Given the description of an element on the screen output the (x, y) to click on. 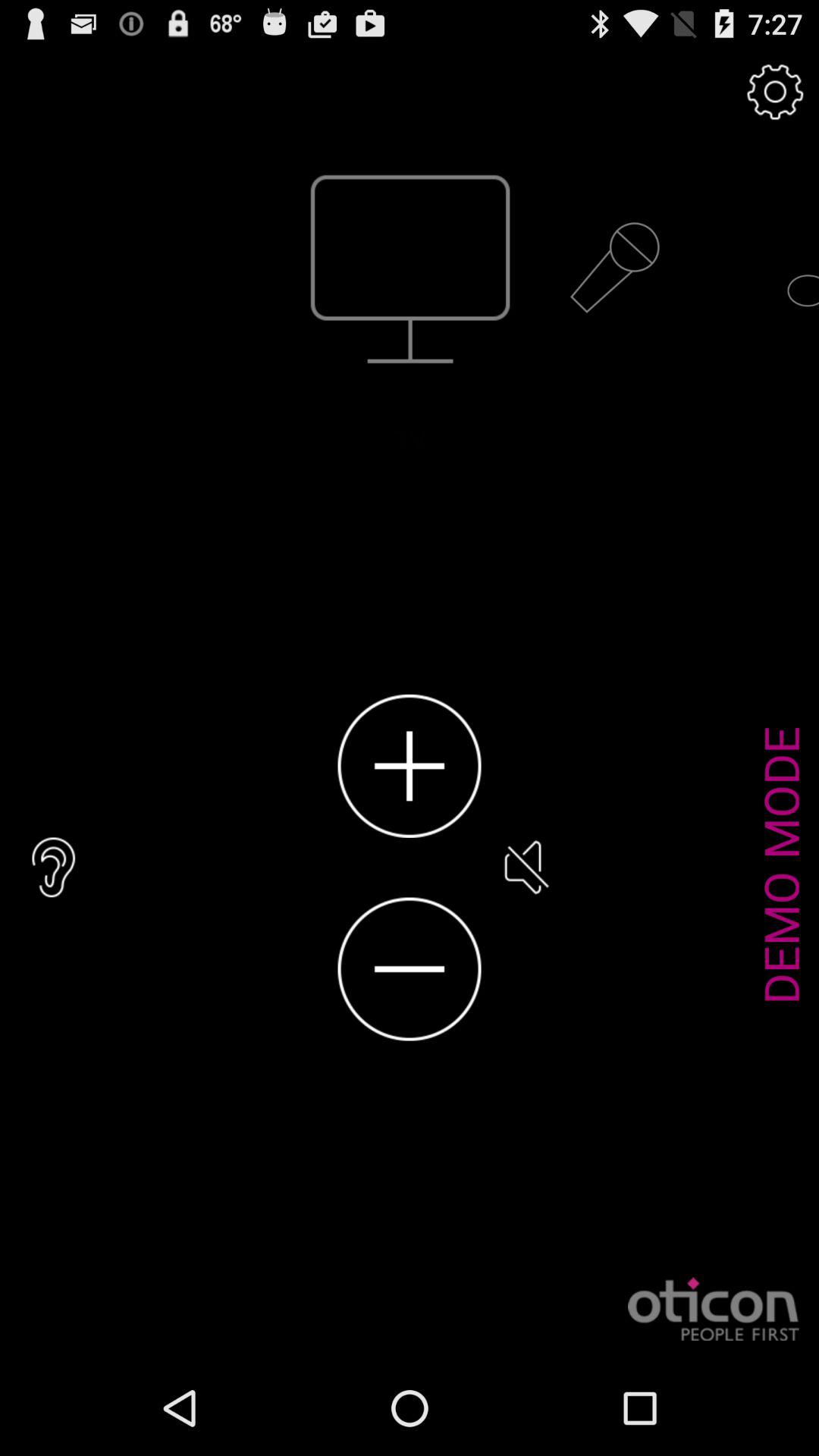
press the icon to the left of demo mode (524, 867)
